Given the description of an element on the screen output the (x, y) to click on. 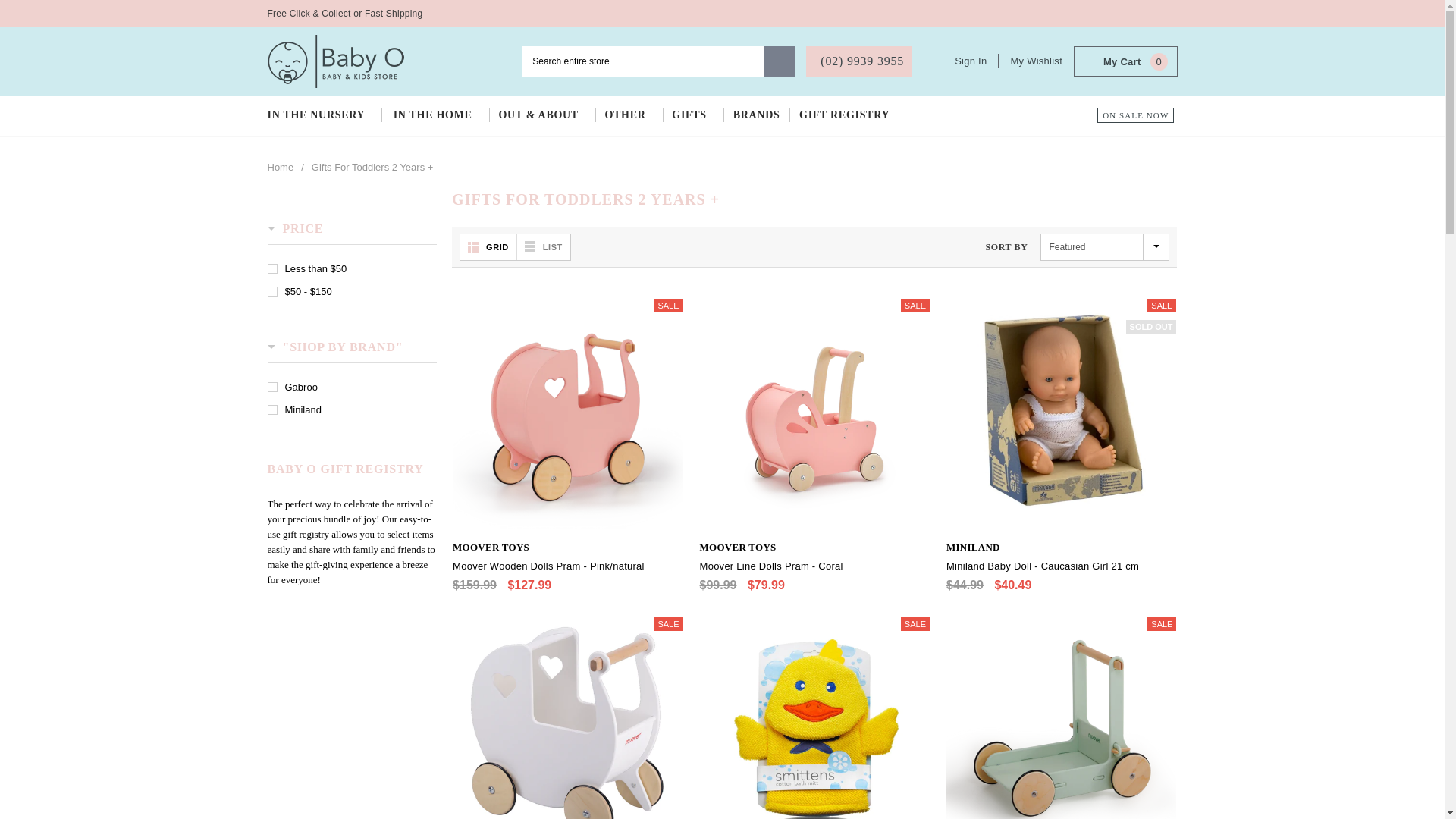
GIFT REGISTRY Element type: text (847, 115)
My Wishlist Element type: text (1036, 60)
IN THE NURSERY Element type: text (324, 115)
Moover Line Dolls Pram - Coral Element type: text (814, 566)
Gifts For Toddlers 2 Years + Element type: text (372, 167)
GIFTS Element type: text (692, 115)
IN THE HOME Element type: text (435, 115)
OTHER Element type: text (627, 115)
Featured Element type: text (1104, 246)
Sign In Element type: text (976, 60)
(02) 9939 3955 Element type: text (859, 61)
ON SALE NOW Element type: text (1135, 114)
Moover Wooden Dolls Pram - Pink/natural Element type: text (567, 566)
Home Element type: text (279, 167)
LIST Element type: text (543, 247)
Miniland Baby Doll - Caucasian Girl 21 cm Element type: text (1061, 566)
BRANDS Element type: text (756, 115)
OUT & ABOUT Element type: text (541, 115)
My Cart
0 Element type: text (1125, 61)
GRID Element type: text (488, 247)
